Given the description of an element on the screen output the (x, y) to click on. 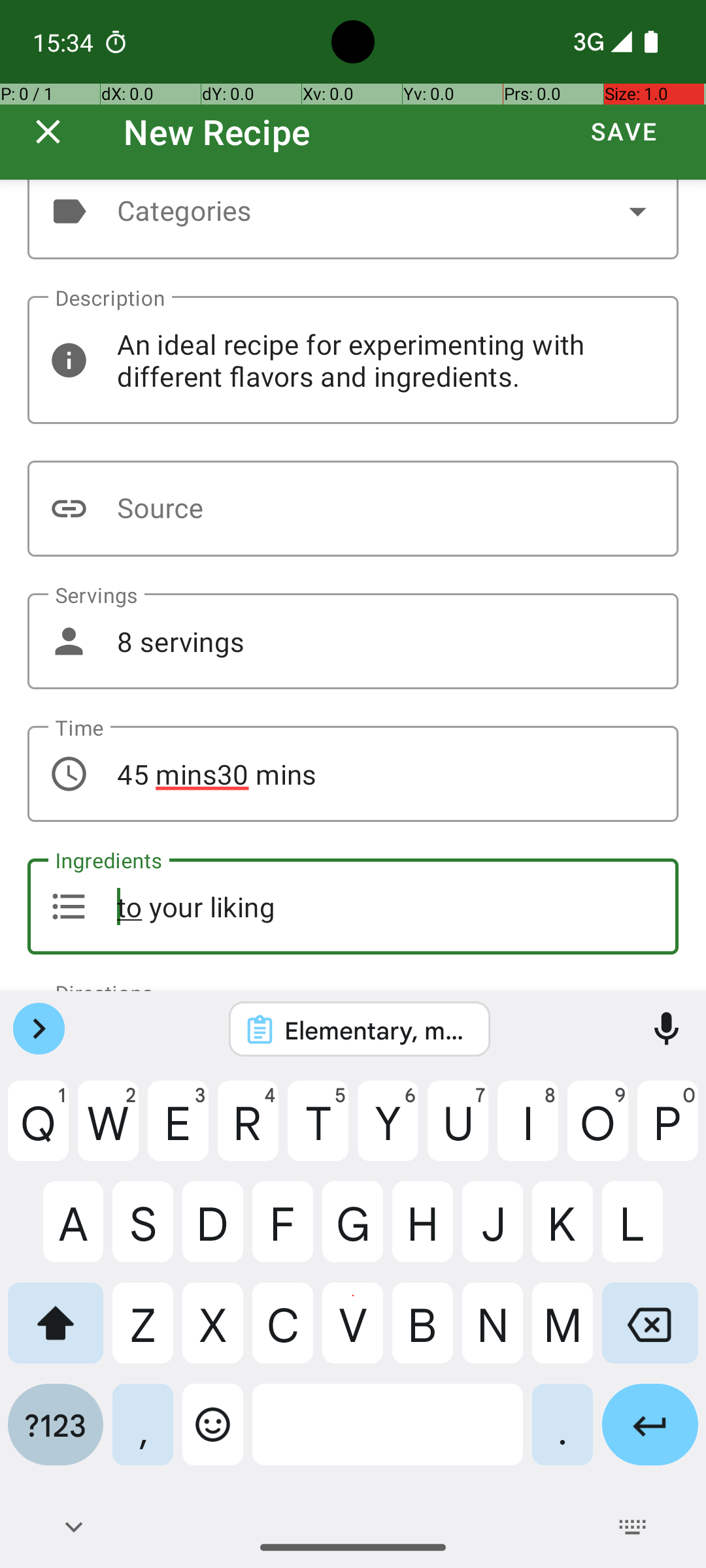
45 mins30 mins Element type: android.widget.EditText (352, 773)
Elementary, my dear Watson. Element type: android.widget.TextView (376, 1029)
